Given the description of an element on the screen output the (x, y) to click on. 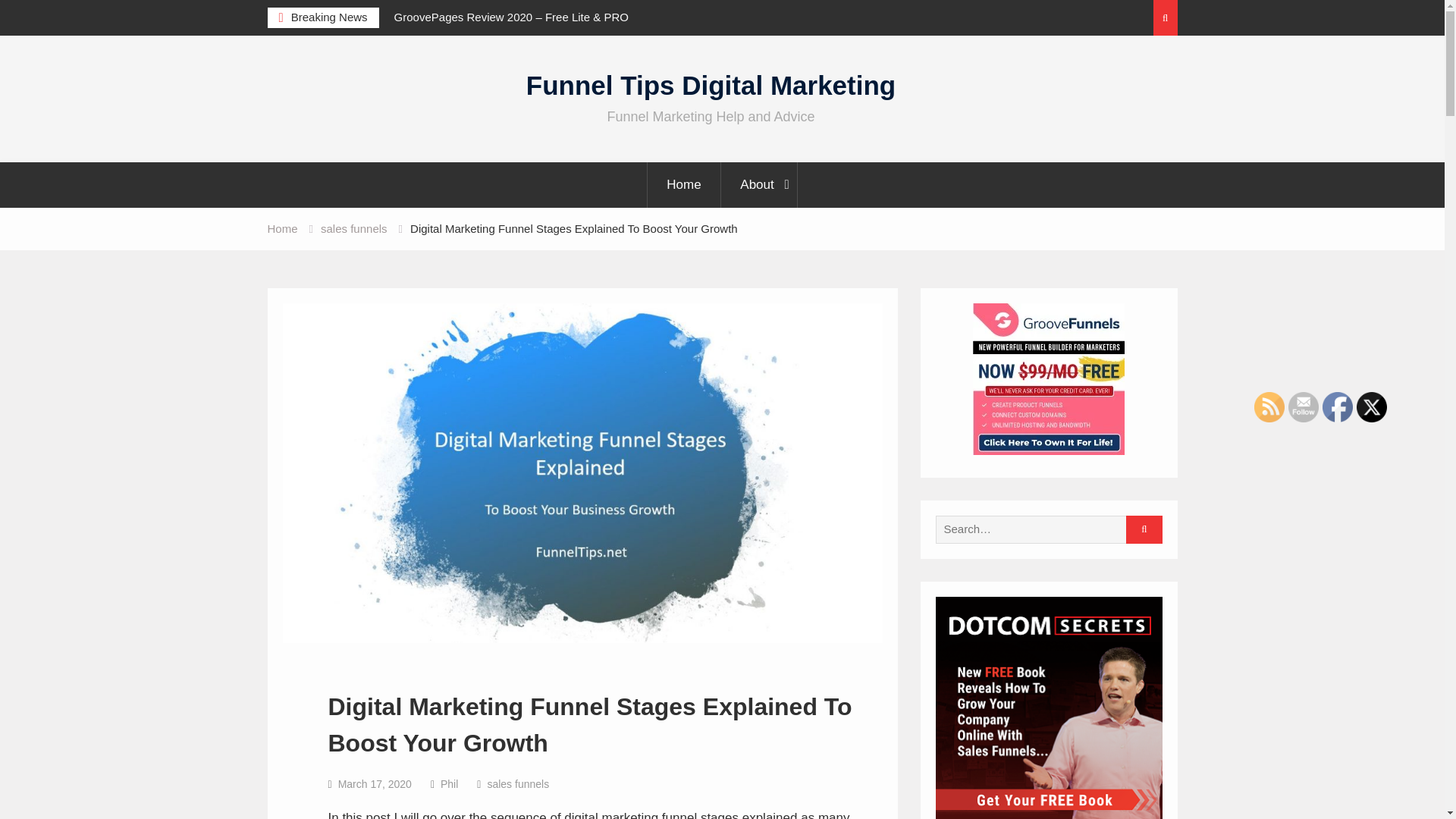
sales funnels (517, 784)
Funnel Tips Digital Marketing (710, 84)
About (758, 185)
Phil (449, 784)
Twitter (1371, 407)
Follow by Email (1303, 407)
Home (683, 185)
Home (281, 227)
Search for: (1043, 529)
Facebook (1337, 407)
RSS (1268, 407)
March 17, 2020 (374, 784)
sales funnels (353, 227)
